Given the description of an element on the screen output the (x, y) to click on. 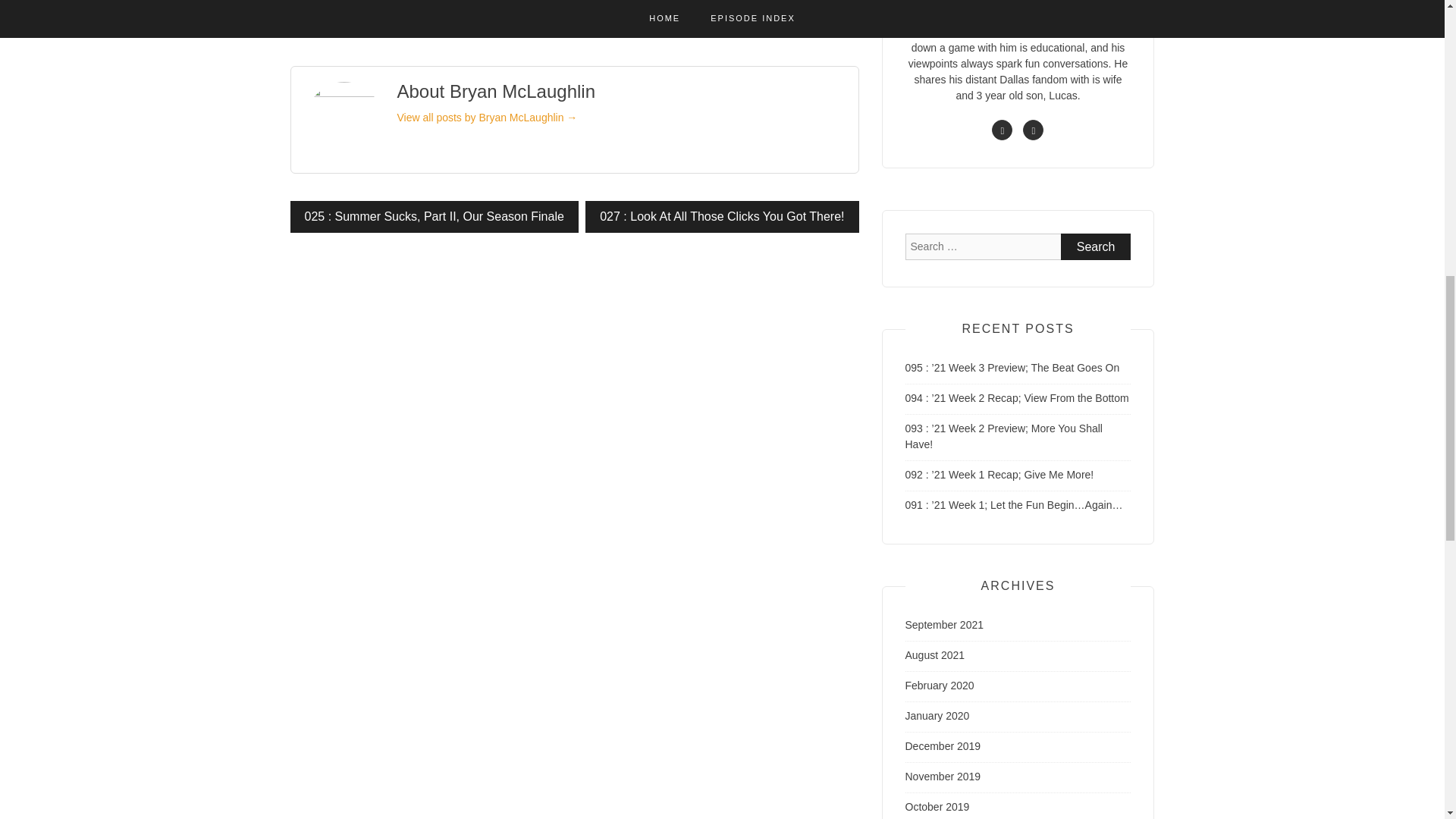
027 : Look At All Those Clicks You Got There! (722, 216)
August 2021 (935, 654)
October 2019 (937, 806)
January 2020 (937, 715)
Search (1096, 246)
025 : Summer Sucks, Part II, Our Season Finale (433, 216)
September 2021 (944, 624)
facebook (1001, 129)
December 2019 (943, 746)
Search (1096, 246)
